Given the description of an element on the screen output the (x, y) to click on. 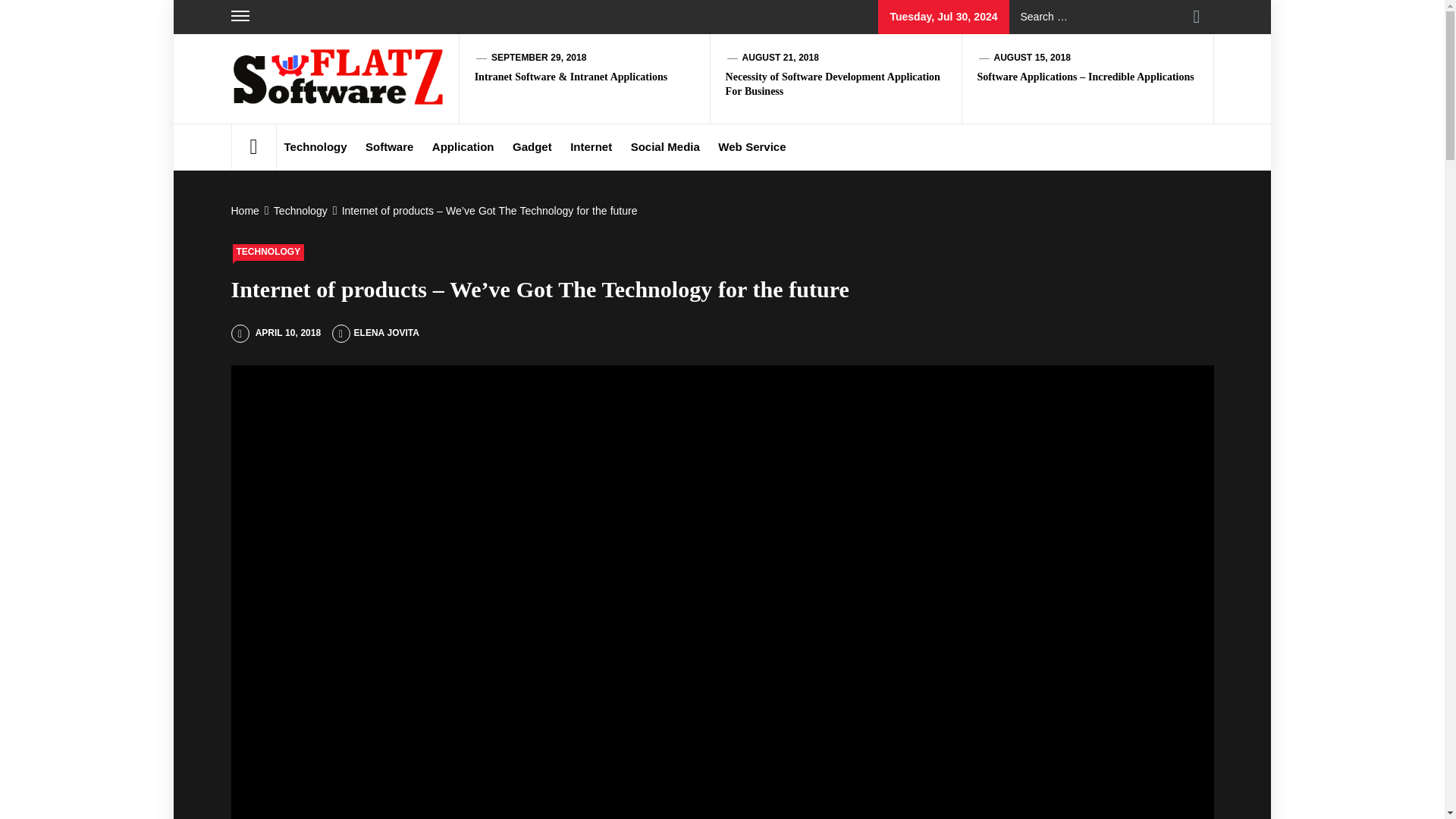
Search (1196, 17)
Search (1196, 17)
Software (389, 146)
Technology (314, 146)
AUGUST 15, 2018 (1031, 57)
Technology (298, 210)
Necessity of Software Development Application For Business (832, 84)
Search (1196, 17)
APRIL 10, 2018 (275, 332)
Social Media (665, 146)
Internet (591, 146)
Gadget (532, 146)
SEPTEMBER 29, 2018 (539, 57)
ELENA JOVITA (375, 332)
Web Service (751, 146)
